Given the description of an element on the screen output the (x, y) to click on. 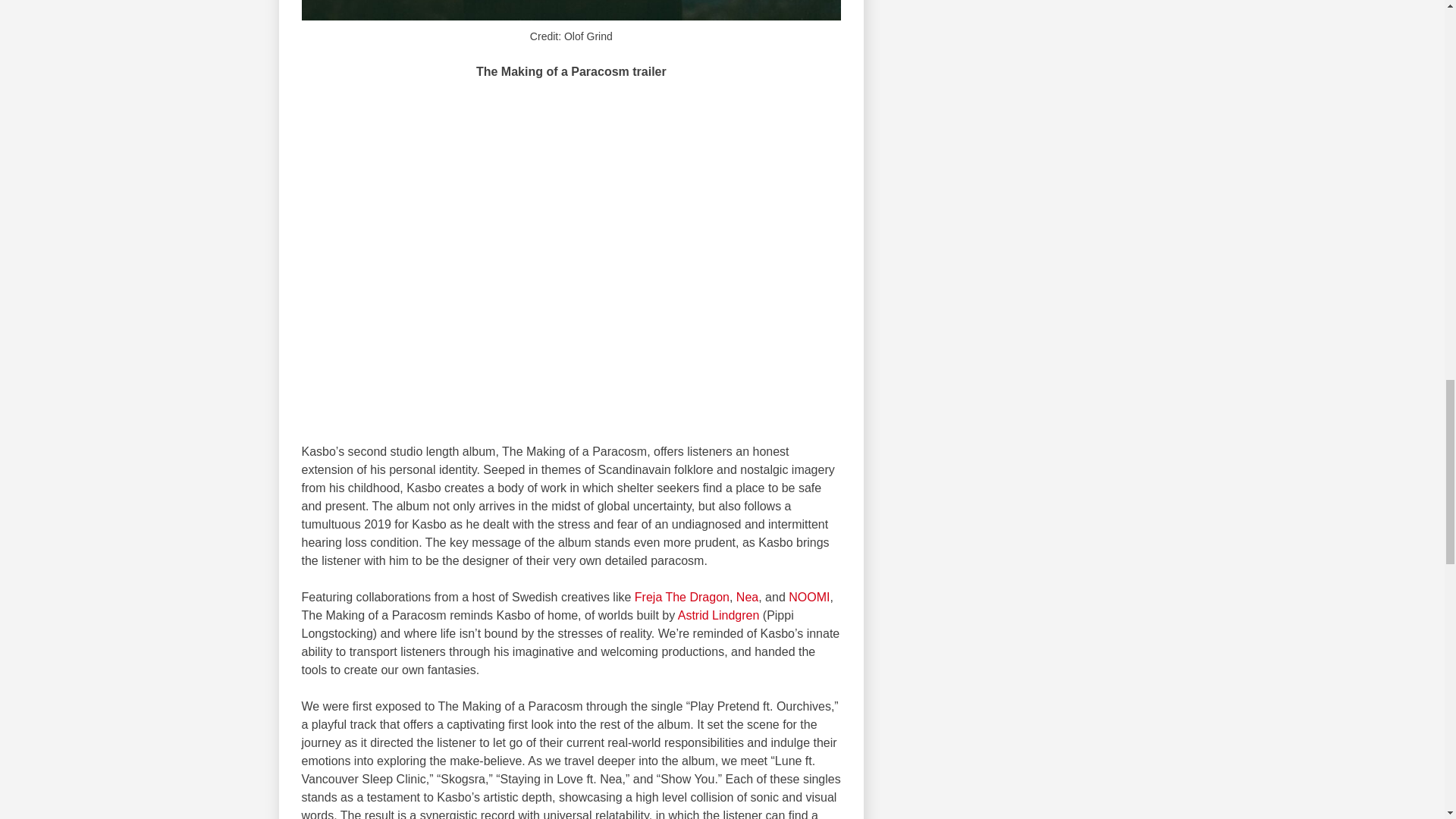
Nea (747, 596)
NOOMI (809, 596)
Freja The Dragon (681, 596)
Astrid Lindgren (719, 615)
